Given the description of an element on the screen output the (x, y) to click on. 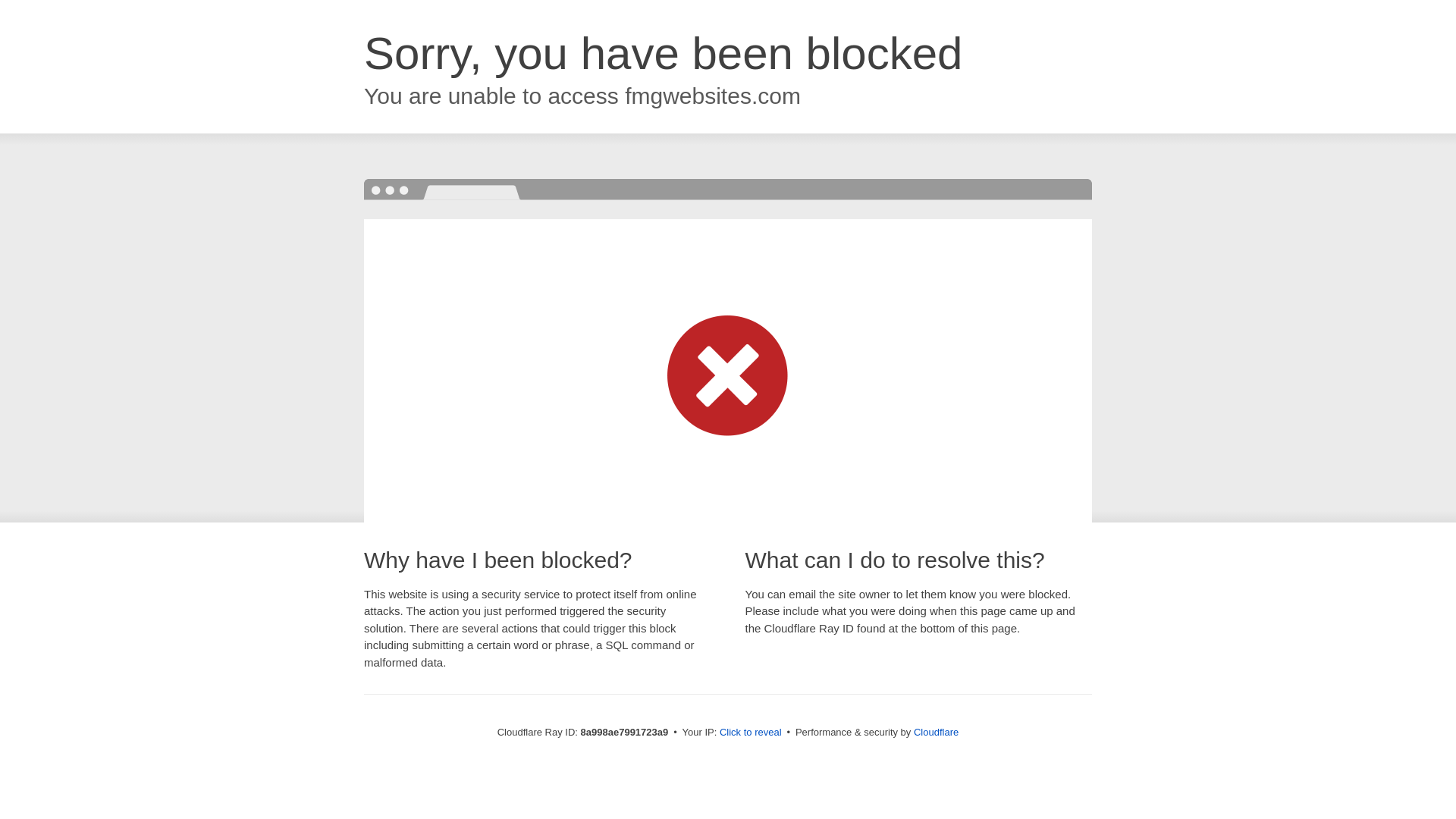
Cloudflare (936, 731)
Click to reveal (750, 732)
